Given the description of an element on the screen output the (x, y) to click on. 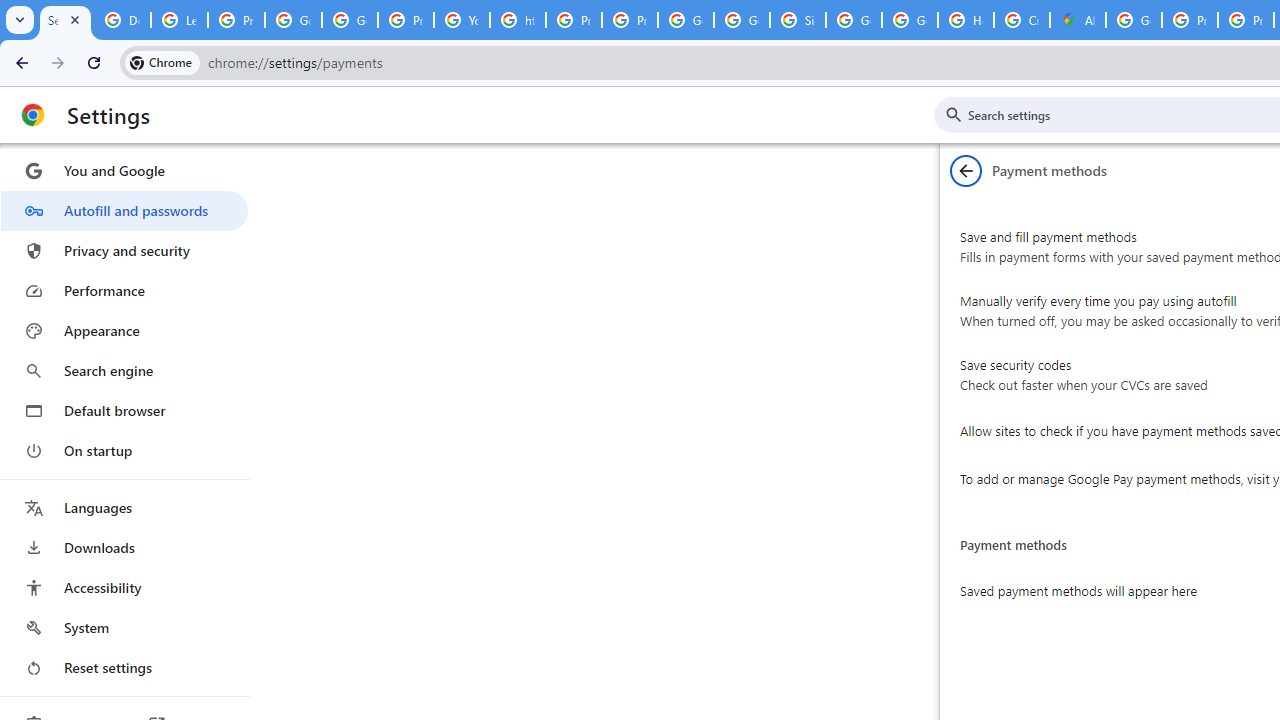
Google Account Help (293, 20)
Privacy Help Center - Policies Help (573, 20)
Create your Google Account (1021, 20)
Privacy and security (124, 250)
Settings - Payment methods (65, 20)
On startup (124, 450)
Performance (124, 290)
Search engine (124, 370)
